Given the description of an element on the screen output the (x, y) to click on. 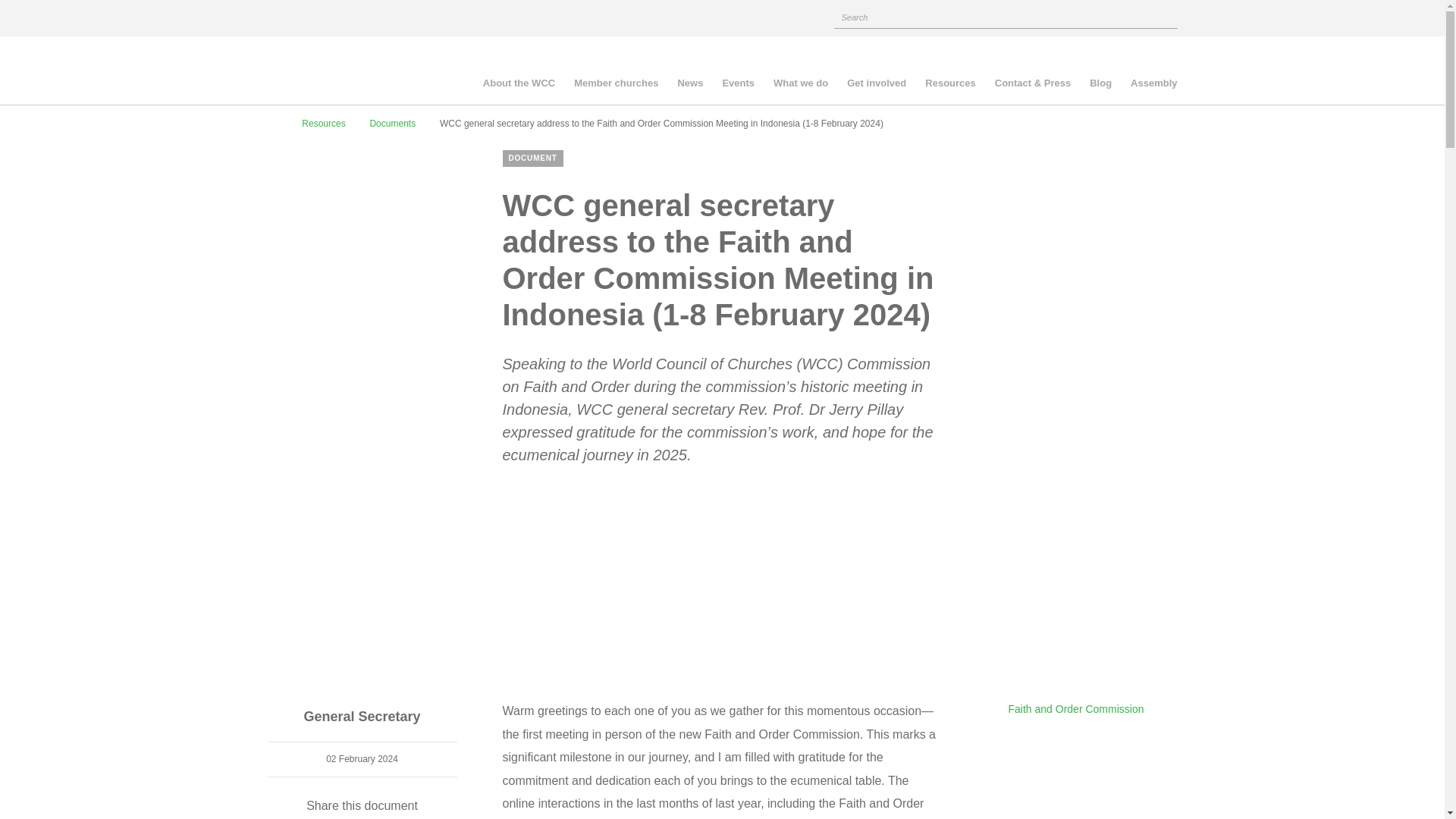
General Secretary (361, 716)
About the WCC (518, 84)
Member churches (615, 84)
Search (1165, 15)
Home (272, 122)
Get involved (876, 84)
Resources (949, 84)
What we do (800, 84)
Faith and Order Commission (1076, 708)
